Given the description of an element on the screen output the (x, y) to click on. 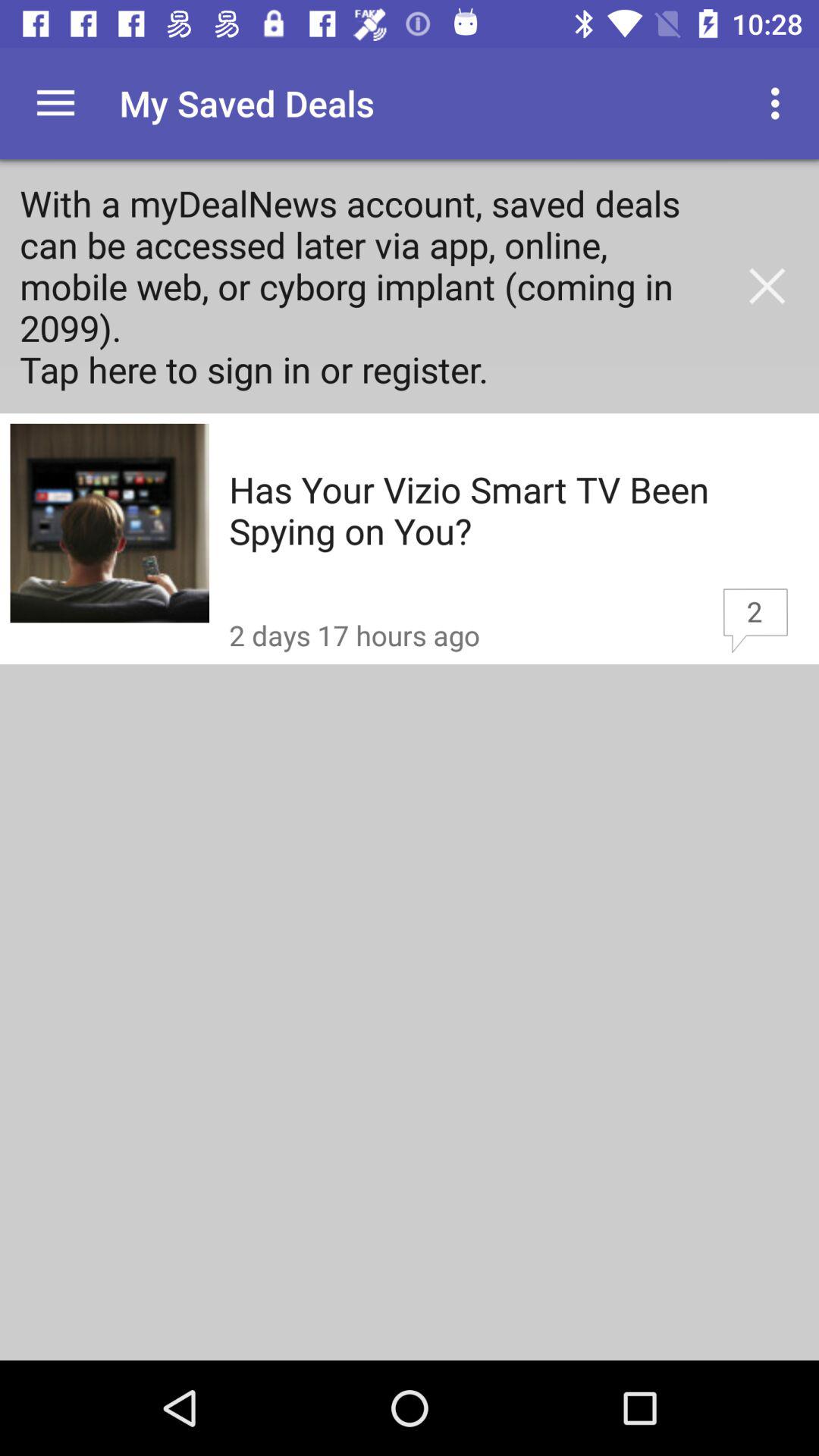
toggle menu for more options (55, 103)
